Given the description of an element on the screen output the (x, y) to click on. 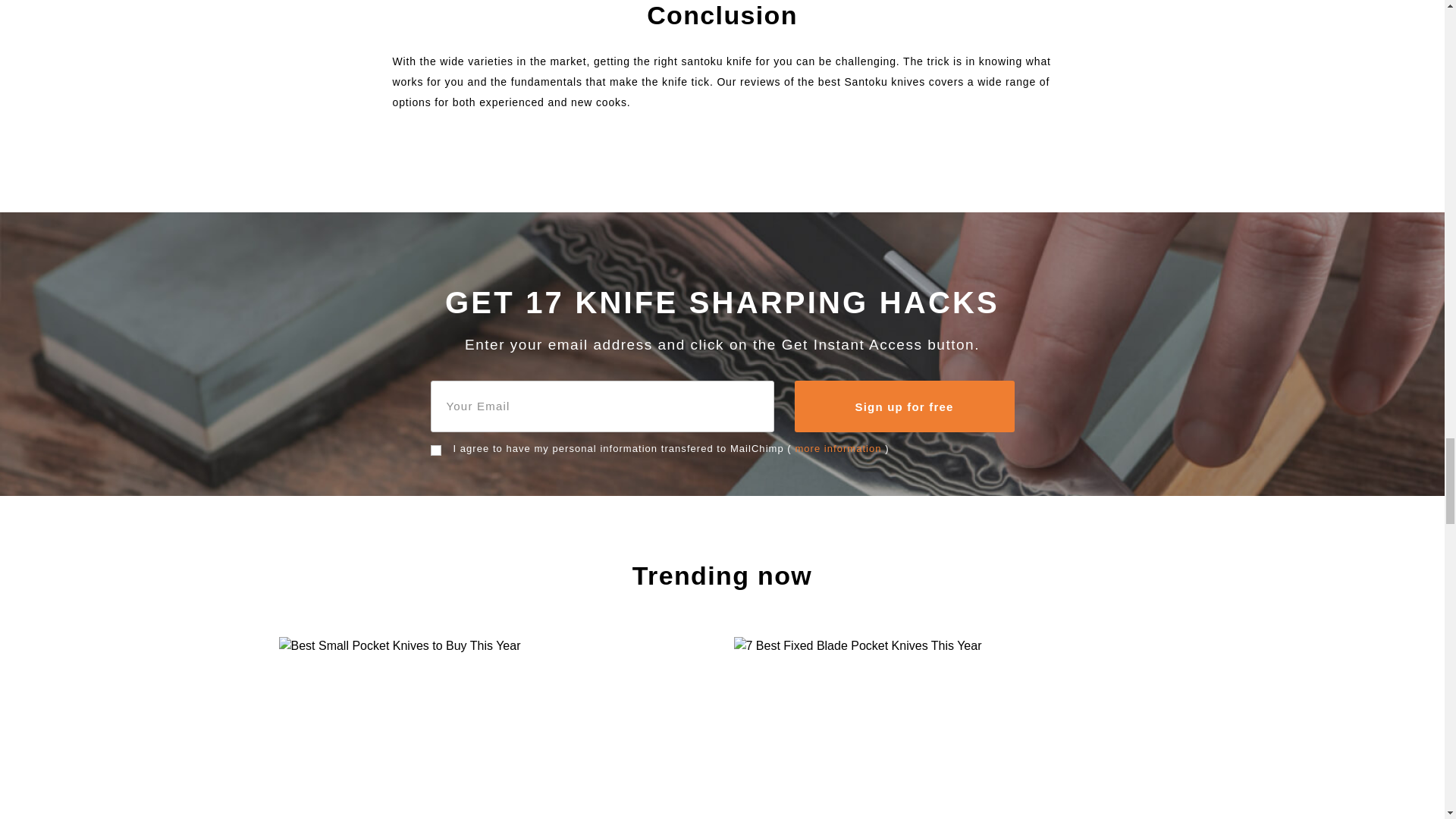
Sign up for free (904, 406)
